Given the description of an element on the screen output the (x, y) to click on. 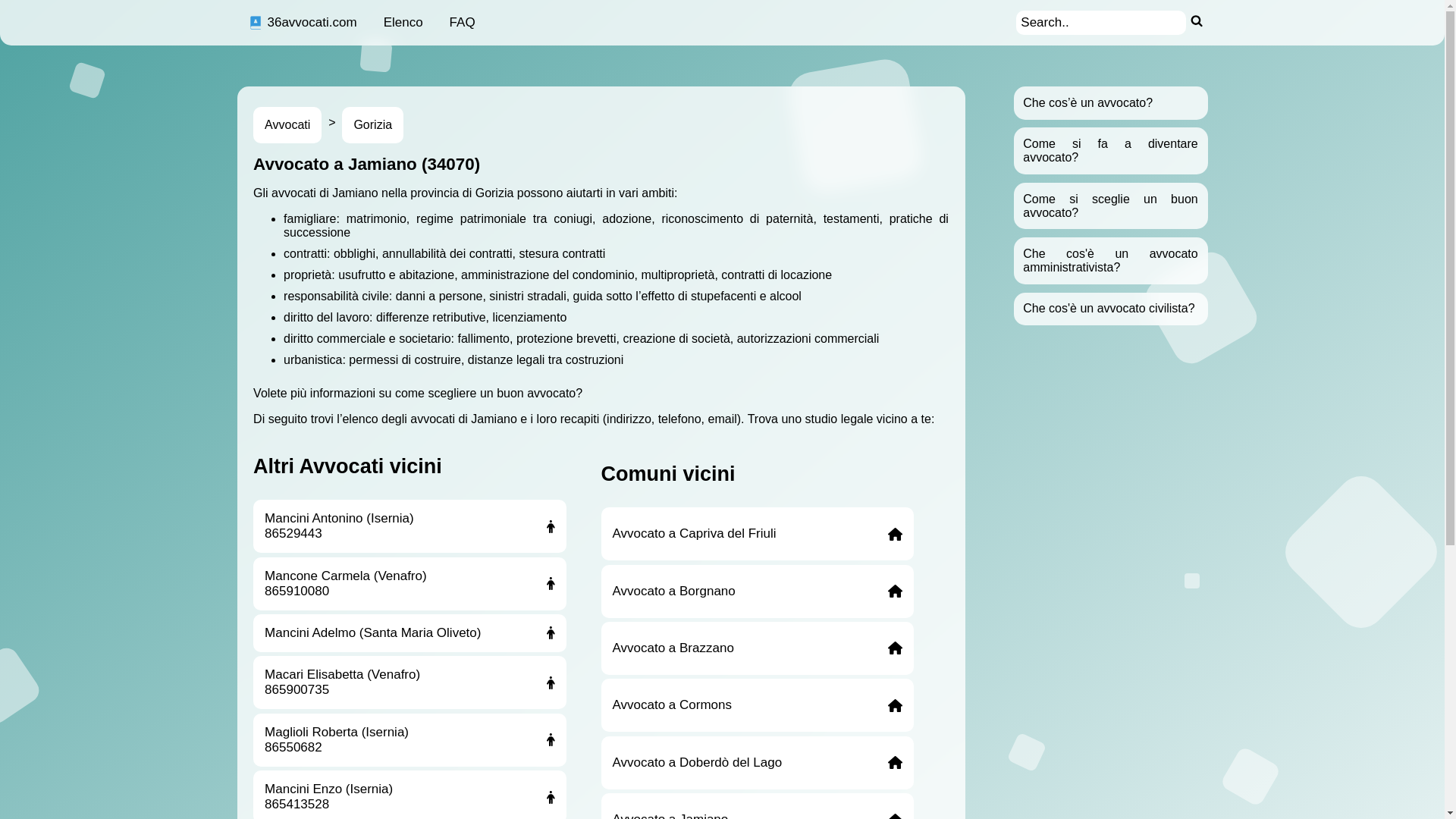
Avvocato a Cormons Element type: text (756, 704)
Mancone Carmela (Venafro)
865910080 Element type: text (409, 583)
36avvocati.com Element type: text (301, 22)
Mancini Adelmo (Santa Maria Oliveto) Element type: text (409, 633)
Gorizia Element type: text (372, 124)
Avvocato a Capriva del Friuli Element type: text (756, 533)
Maglioli Roberta (Isernia)
86550682 Element type: text (409, 739)
Come si fa a diventare avvocato? Element type: text (1109, 150)
come scegliere un buon avvocato? Element type: text (488, 392)
Avvocato a Borgnano Element type: text (756, 591)
Avvocati Element type: text (287, 124)
Macari Elisabetta (Venafro)
865900735 Element type: text (409, 682)
Elenco Element type: text (403, 22)
Mancini Antonino (Isernia)
86529443 Element type: text (409, 525)
FAQ Element type: text (462, 22)
Avvocato a Brazzano Element type: text (756, 647)
Come si sceglie un buon avvocato? Element type: text (1109, 205)
